Given the description of an element on the screen output the (x, y) to click on. 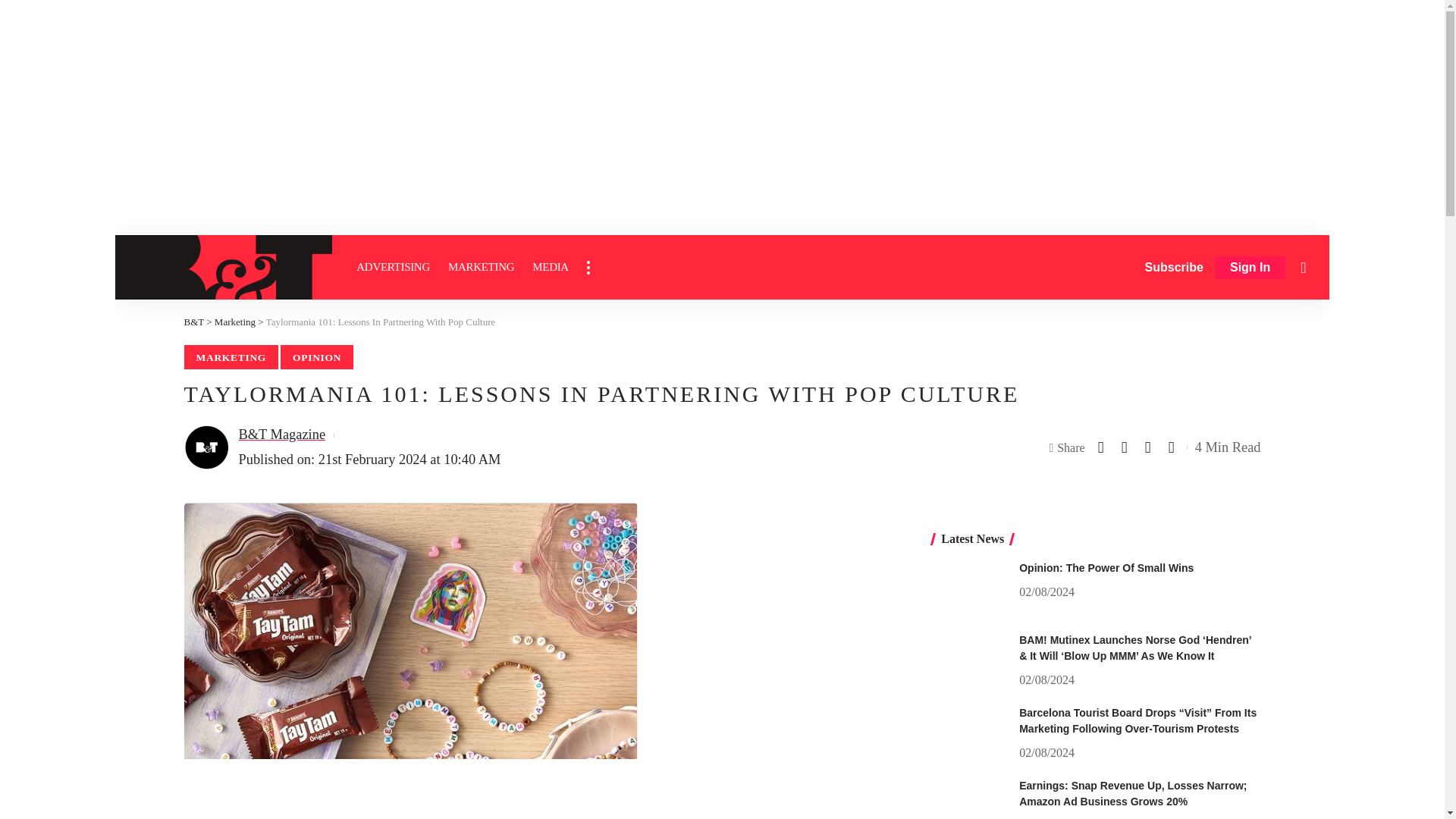
ADVERTISING (393, 267)
Opinion: The Power Of Small Wins (969, 588)
Subscribe (1174, 267)
Go to the Marketing Category archives. (235, 321)
Sign In (1249, 267)
MARKETING (480, 267)
